Given the description of an element on the screen output the (x, y) to click on. 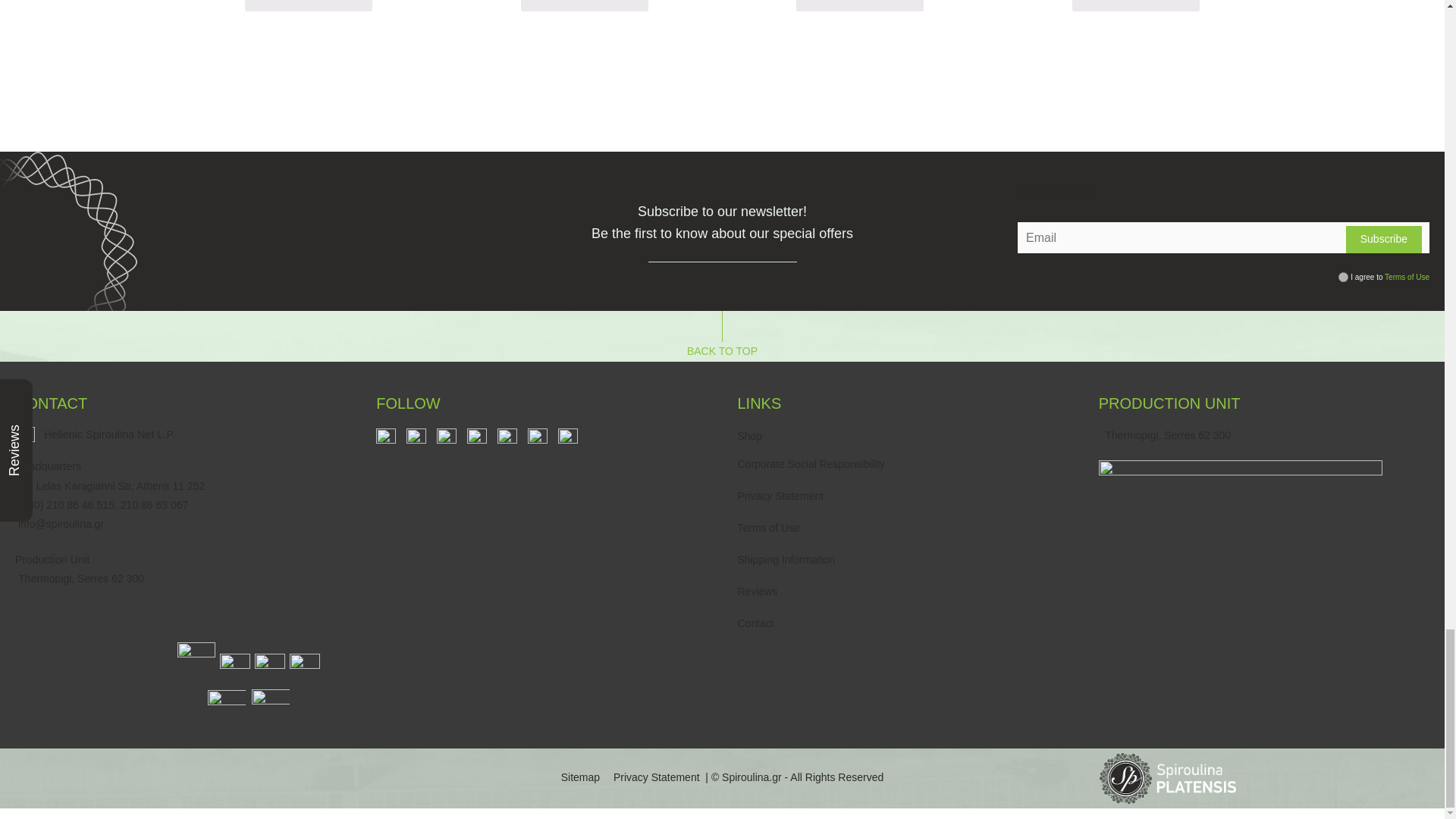
BACK TO TOP (722, 336)
1 (1343, 276)
Subscribe (1383, 239)
